Given the description of an element on the screen output the (x, y) to click on. 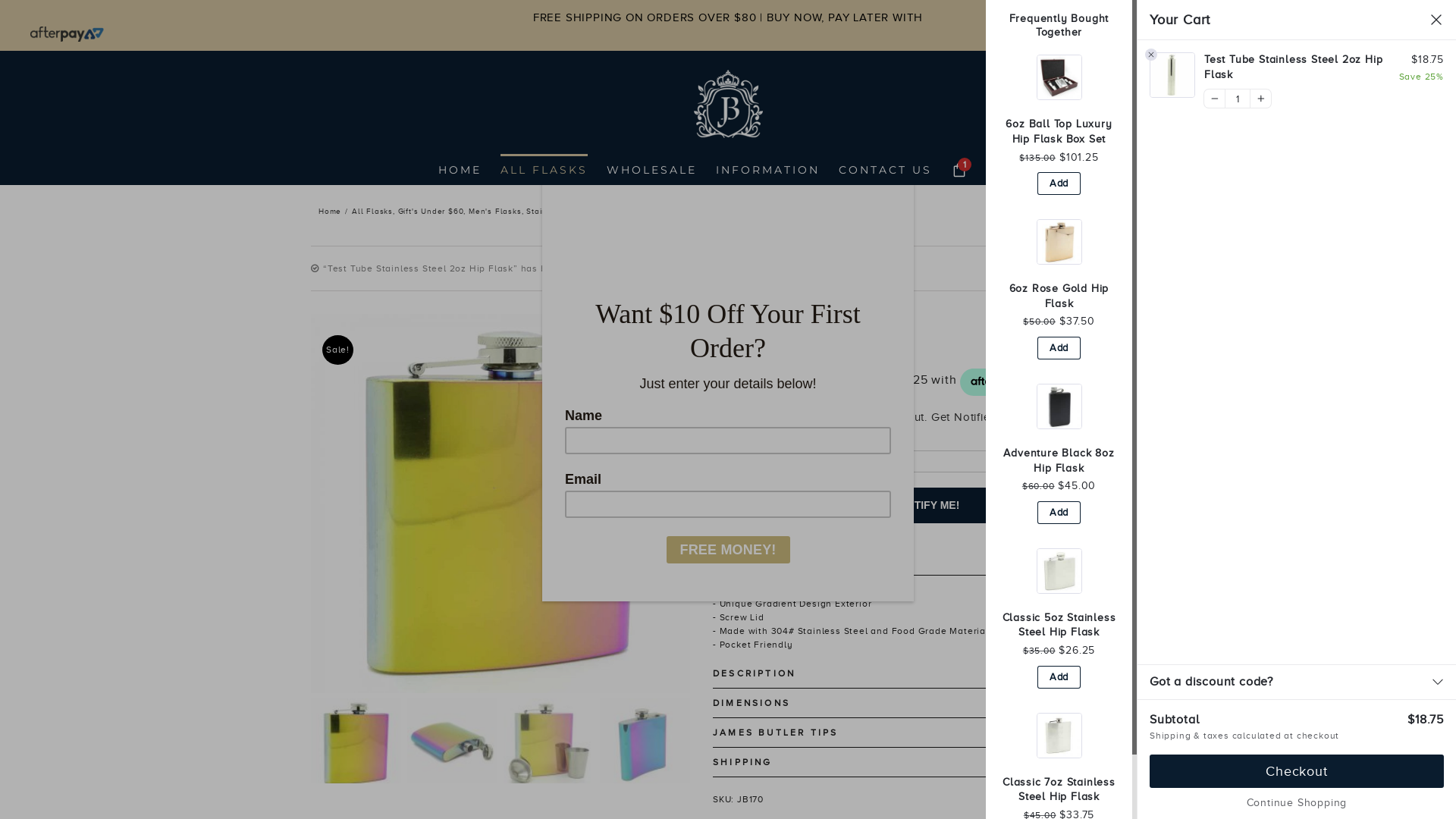
View cart Element type: text (1116, 267)
Gift's Under $60 Element type: text (431, 211)
Men's Flasks Element type: text (494, 211)
INFORMATION Element type: text (767, 168)
Home Element type: text (329, 211)
Search Element type: hover (992, 168)
Stainless Steel Flasks Element type: text (571, 211)
Classic 7oz Stainless Steel Hip Flask Element type: text (1058, 789)
Women's Flasks Element type: text (654, 211)
pink-magic-6oz-hip-flask-1 Element type: hover (500, 503)
ALL FLASKS Element type: text (543, 168)
Classic 5oz Stainless Steel Hip Flask Element type: text (1058, 625)
6oz Ball Top Luxury Hip Flask Box Set Element type: text (1058, 131)
Continue Shopping Element type: text (1296, 802)
Notify Me! Element type: text (928, 505)
All Flasks Element type: text (371, 211)
HOME Element type: text (459, 168)
CONTACT US Element type: text (884, 168)
Checkout Element type: text (1296, 770)
Adventure Black 8oz Hip Flask Element type: text (1058, 460)
6oz Rose Gold Hip Flask Element type: text (1058, 295)
WHOLESALE Element type: text (651, 168)
2 Reviews Element type: text (1124, 348)
Test Tube Stainless Steel 2oz Hip Flask Element type: text (1296, 66)
